Given the description of an element on the screen output the (x, y) to click on. 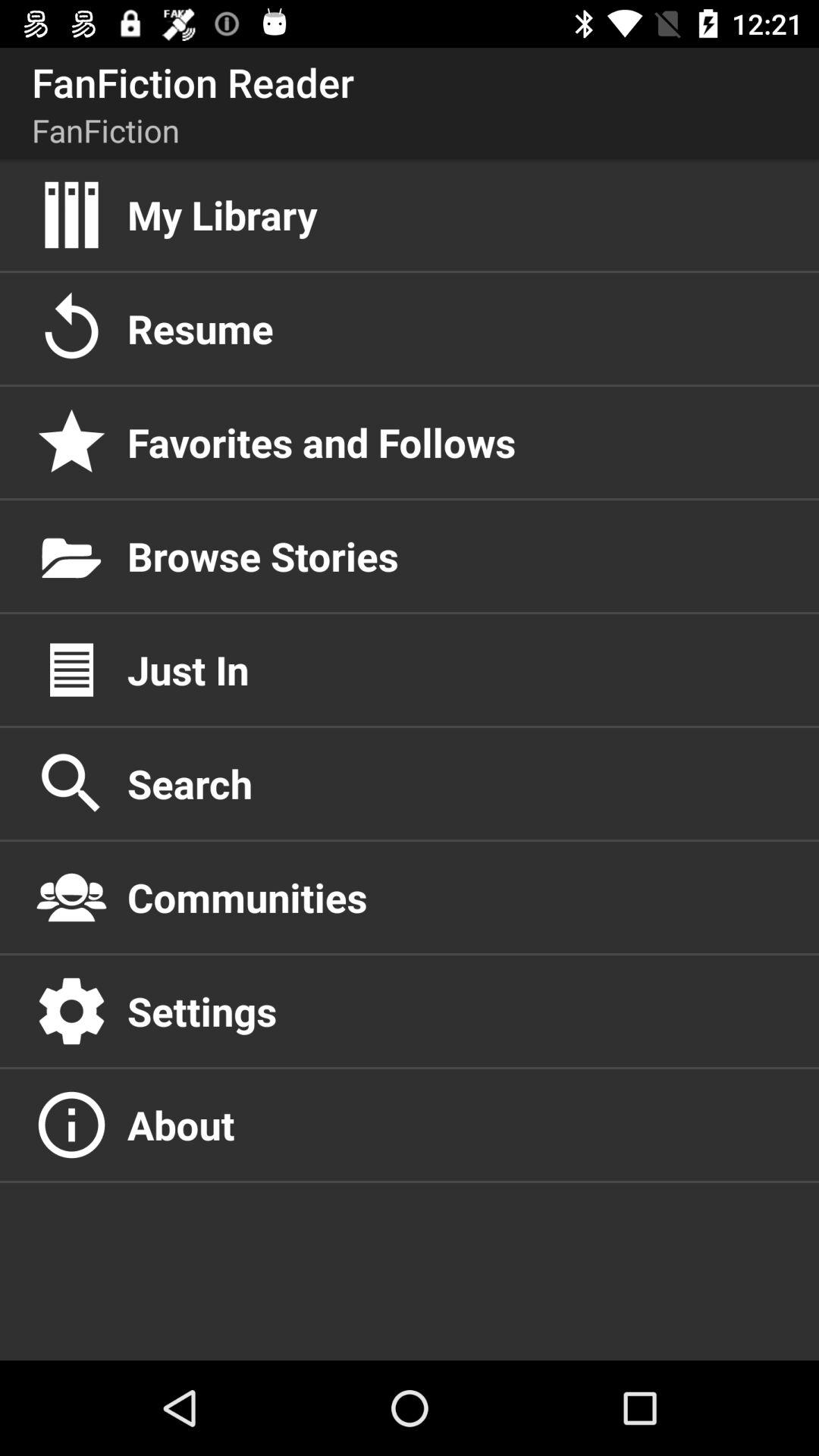
select the just in (457, 669)
